Given the description of an element on the screen output the (x, y) to click on. 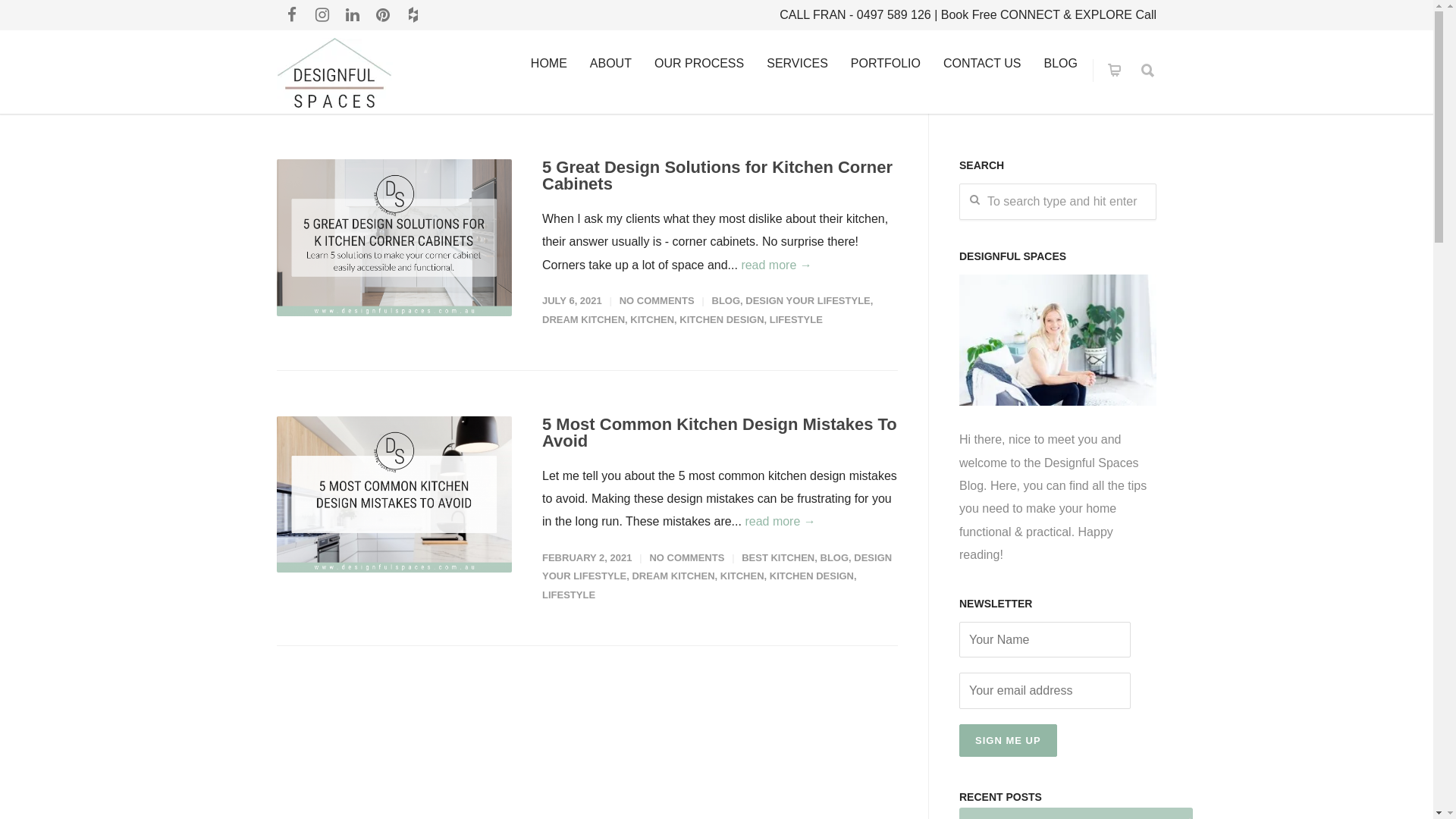
KITCHEN Element type: text (652, 319)
Facebook Element type: hover (291, 15)
BLOG Element type: text (1060, 63)
KITCHEN Element type: text (742, 575)
LIFESTYLE Element type: text (795, 319)
ABOUT Element type: text (610, 63)
BLOG Element type: text (834, 557)
Permalink to 5 Most Common Kitchen Design Mistakes To Avoid Element type: hover (393, 494)
DESIGN YOUR LIFESTYLE Element type: text (716, 567)
Sign me up Element type: text (1008, 740)
KITCHEN DESIGN Element type: text (721, 319)
Houzz Element type: hover (413, 15)
CONTACT US Element type: text (981, 63)
DREAM KITCHEN Element type: text (672, 575)
Book Free CONNECT & EXPLORE Call Element type: text (1048, 14)
Search Element type: text (39, 16)
LIFESTYLE Element type: text (568, 594)
CALL FRAN - 0497 589 126 Element type: text (855, 14)
Instagram Element type: hover (322, 15)
DREAM KITCHEN Element type: text (583, 319)
5 Great Design Solutions for Kitchen Corner Cabinets Element type: text (717, 175)
BLOG Element type: text (725, 300)
PORTFOLIO Element type: text (885, 63)
HOME Element type: text (548, 63)
Pinterest Element type: hover (382, 15)
NO COMMENTS Element type: text (656, 300)
NO COMMENTS Element type: text (686, 557)
DESIGN YOUR LIFESTYLE Element type: text (807, 300)
OUR PROCESS Element type: text (699, 63)
LinkedIn Element type: hover (352, 15)
KITCHEN DESIGN Element type: text (811, 575)
5 Most Common Kitchen Design Mistakes To Avoid Element type: text (719, 432)
SERVICES Element type: text (797, 63)
BEST KITCHEN Element type: text (777, 557)
